Given the description of an element on the screen output the (x, y) to click on. 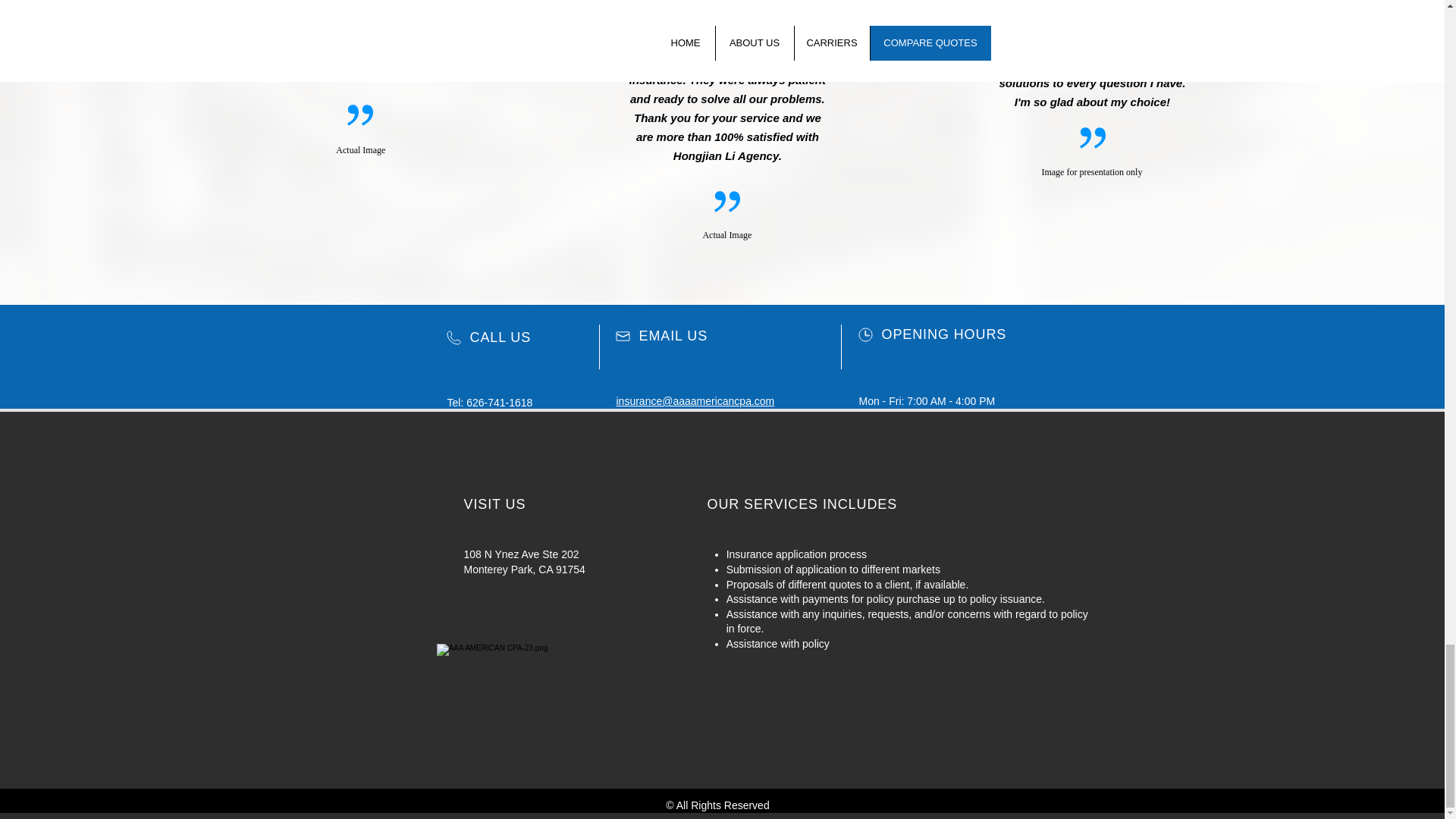
626-741-1618 (498, 402)
